Given the description of an element on the screen output the (x, y) to click on. 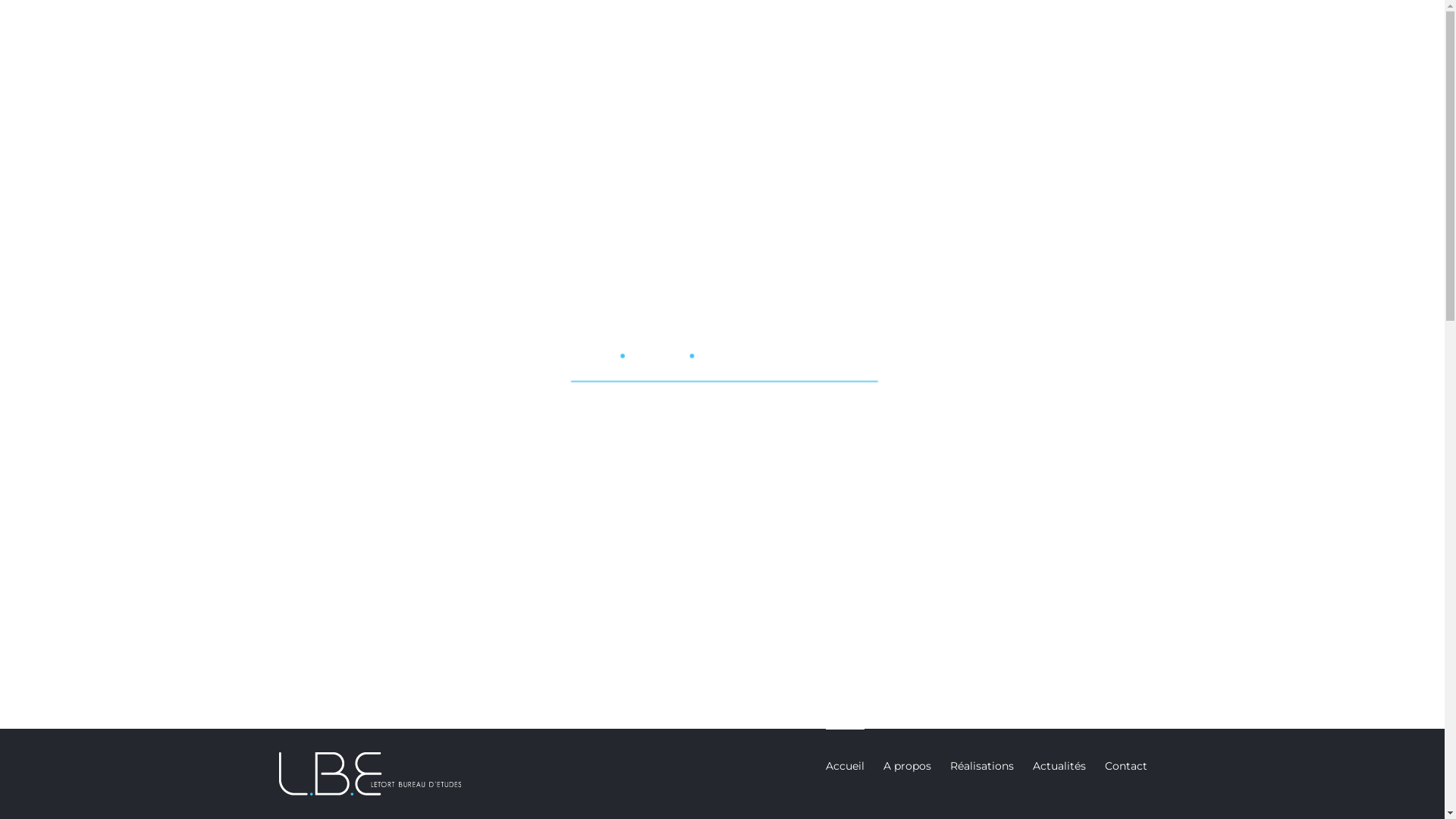
Accueil Element type: text (844, 764)
A propos Element type: text (906, 764)
Contact Element type: text (1125, 764)
